Given the description of an element on the screen output the (x, y) to click on. 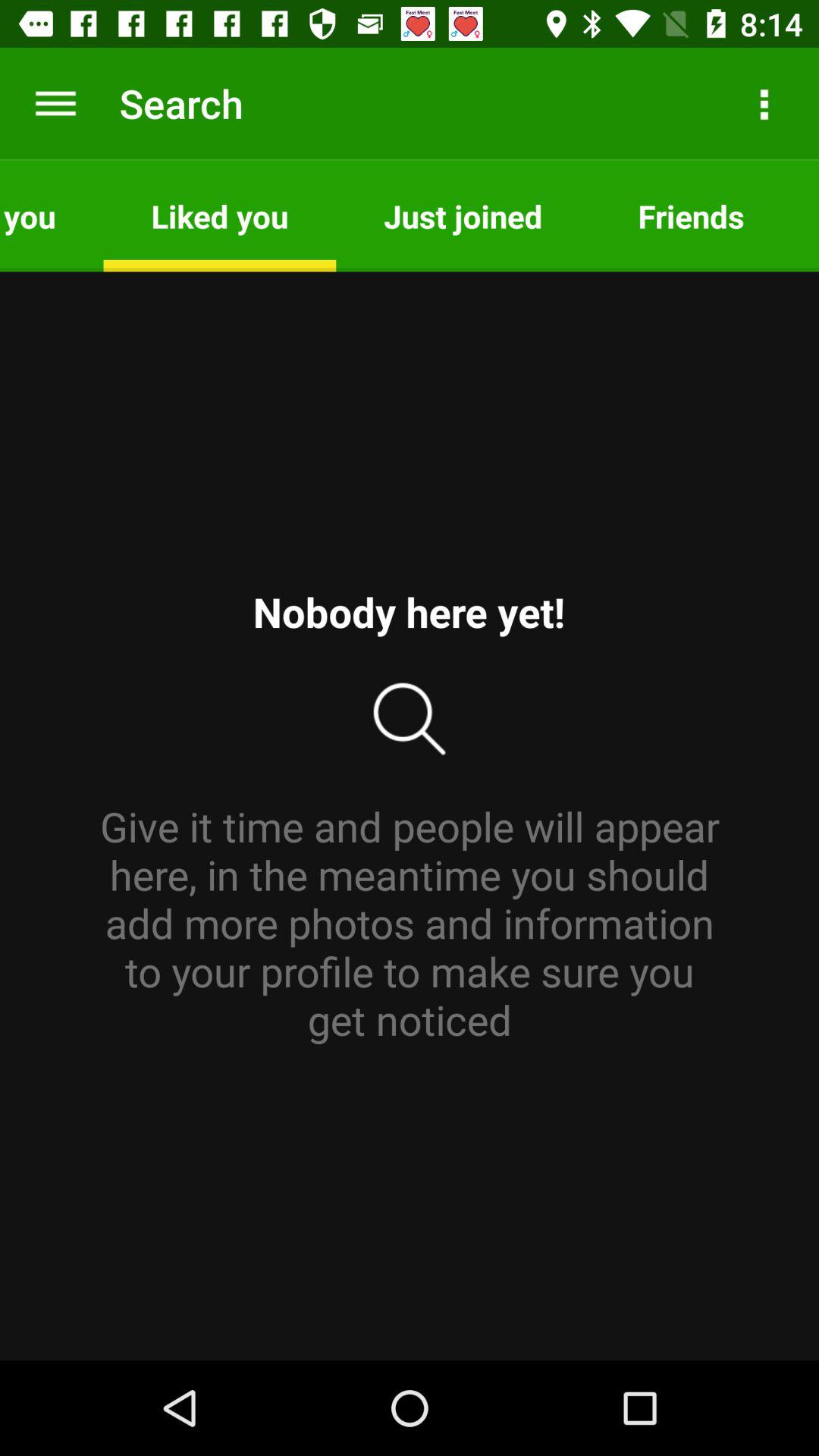
turn off the app next to the friends (463, 215)
